Given the description of an element on the screen output the (x, y) to click on. 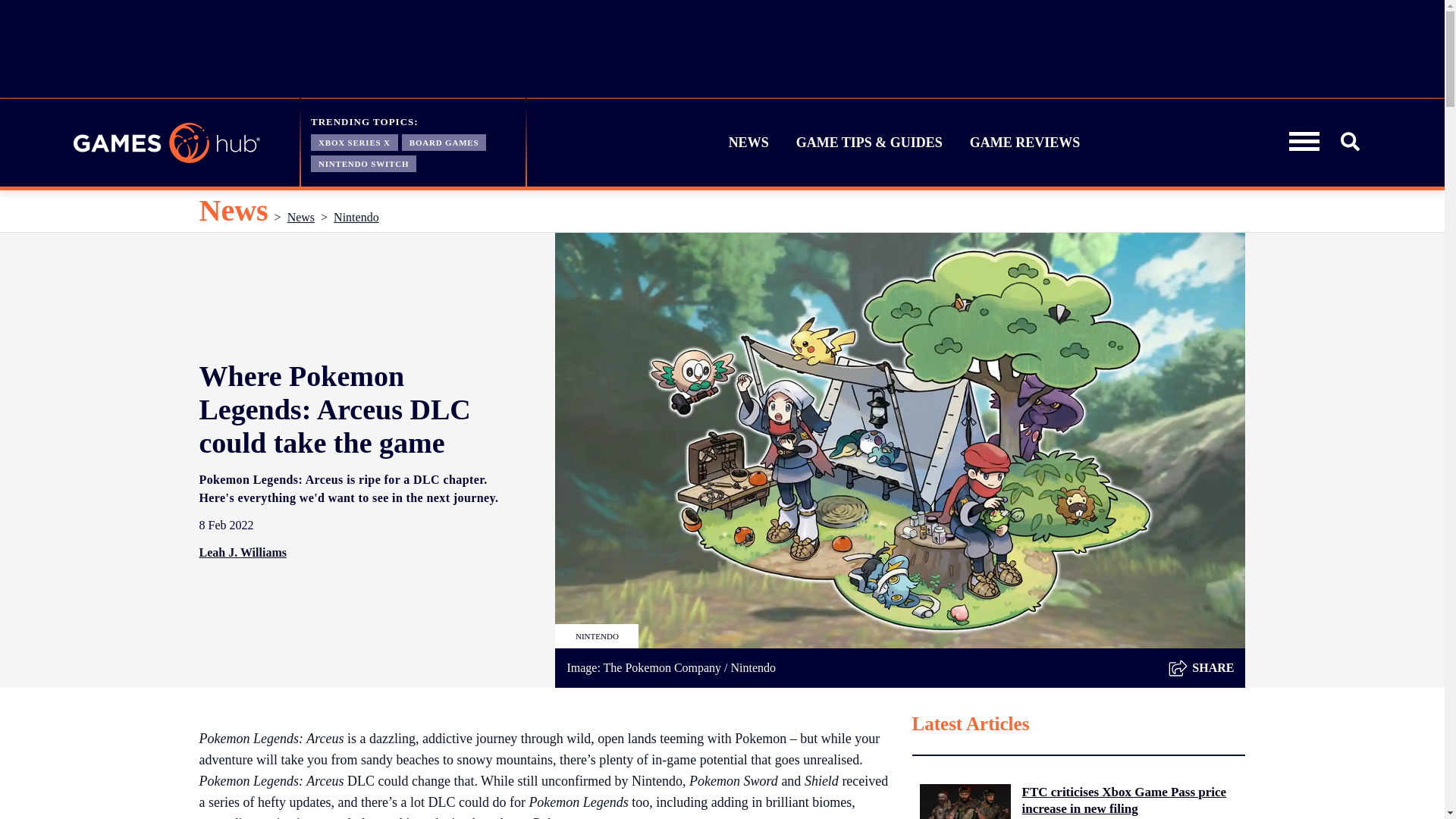
NEWS (748, 142)
XBOX SERIES X (354, 141)
GAME REVIEWS (1025, 142)
NINTENDO SWITCH (363, 162)
BOARD GAMES (443, 141)
